Given the description of an element on the screen output the (x, y) to click on. 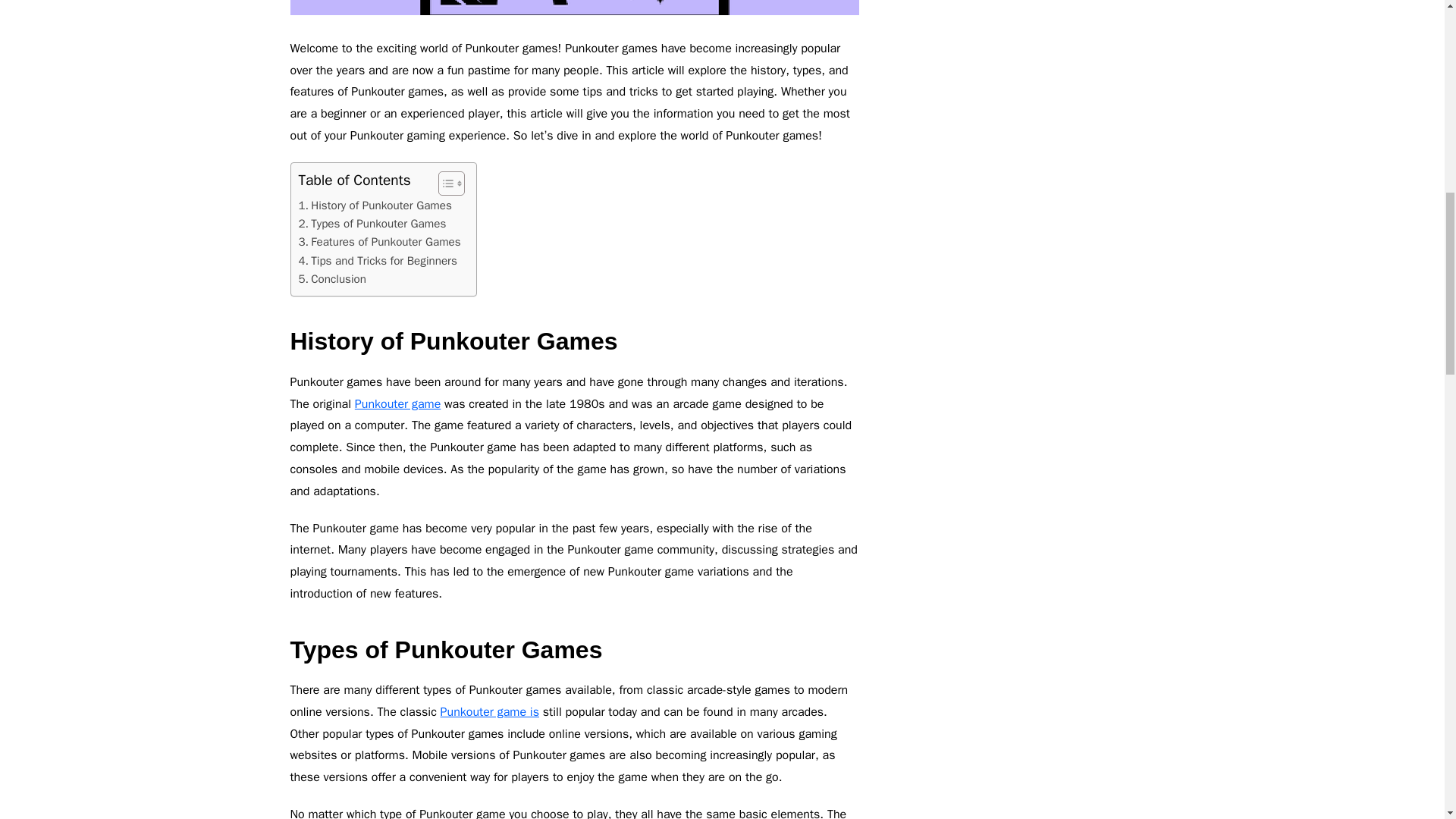
History of Punkouter Games (374, 205)
Tips and Tricks for Beginners (377, 260)
Features of Punkouter Games (379, 241)
Types of Punkouter Games (372, 223)
Conclusion (332, 279)
